Given the description of an element on the screen output the (x, y) to click on. 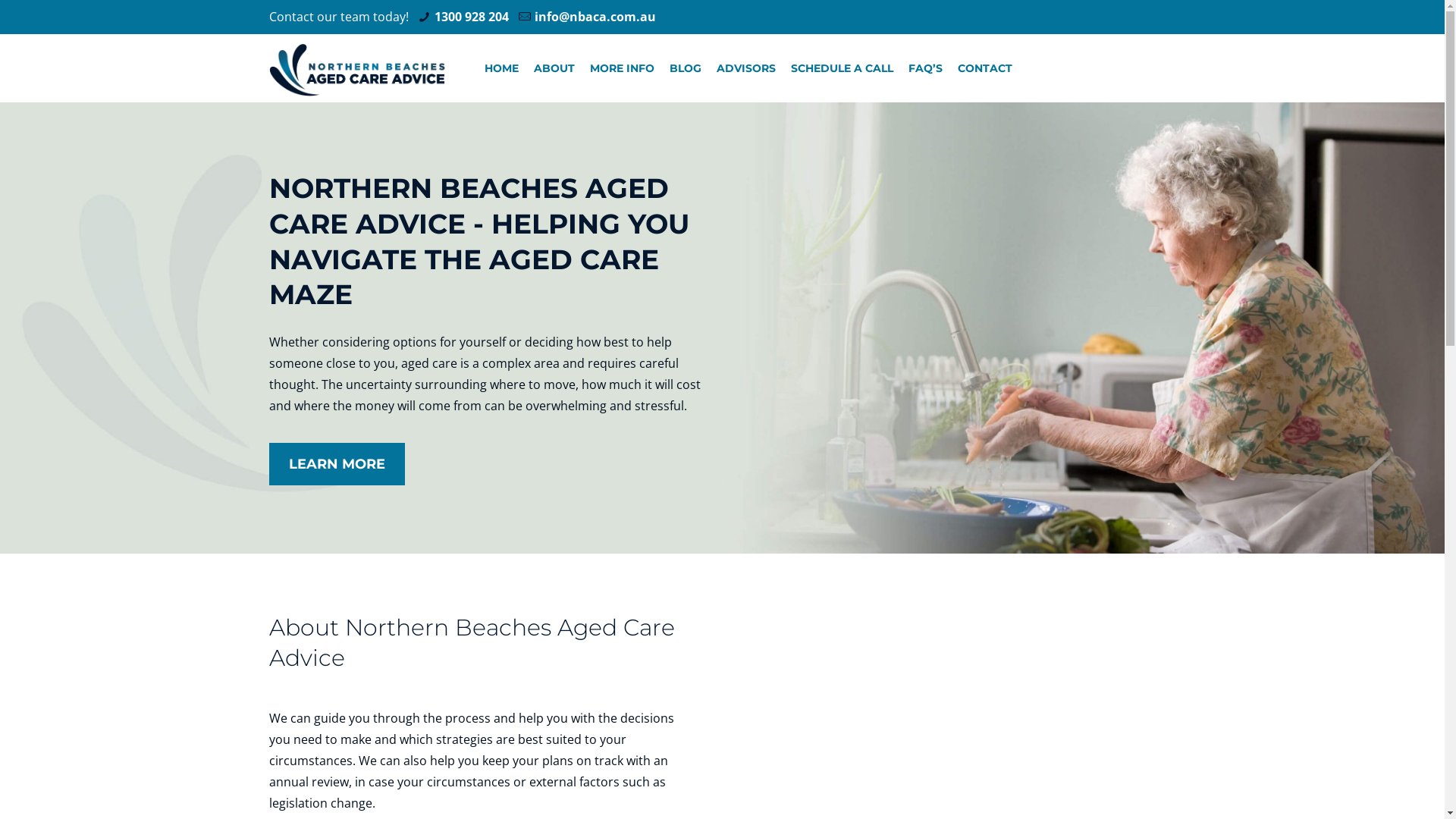
BLOG Element type: text (685, 68)
info@nbaca.com.au Element type: text (594, 16)
LEARN MORE Element type: text (336, 463)
HOME Element type: text (501, 68)
SCHEDULE A CALL Element type: text (841, 68)
ABOUT Element type: text (554, 68)
ADVISORS Element type: text (746, 68)
MORE INFO Element type: text (622, 68)
1300 928 204 Element type: text (471, 16)
Northern Beaches Aged Care Advice Element type: hover (357, 68)
CONTACT Element type: text (984, 68)
